Given the description of an element on the screen output the (x, y) to click on. 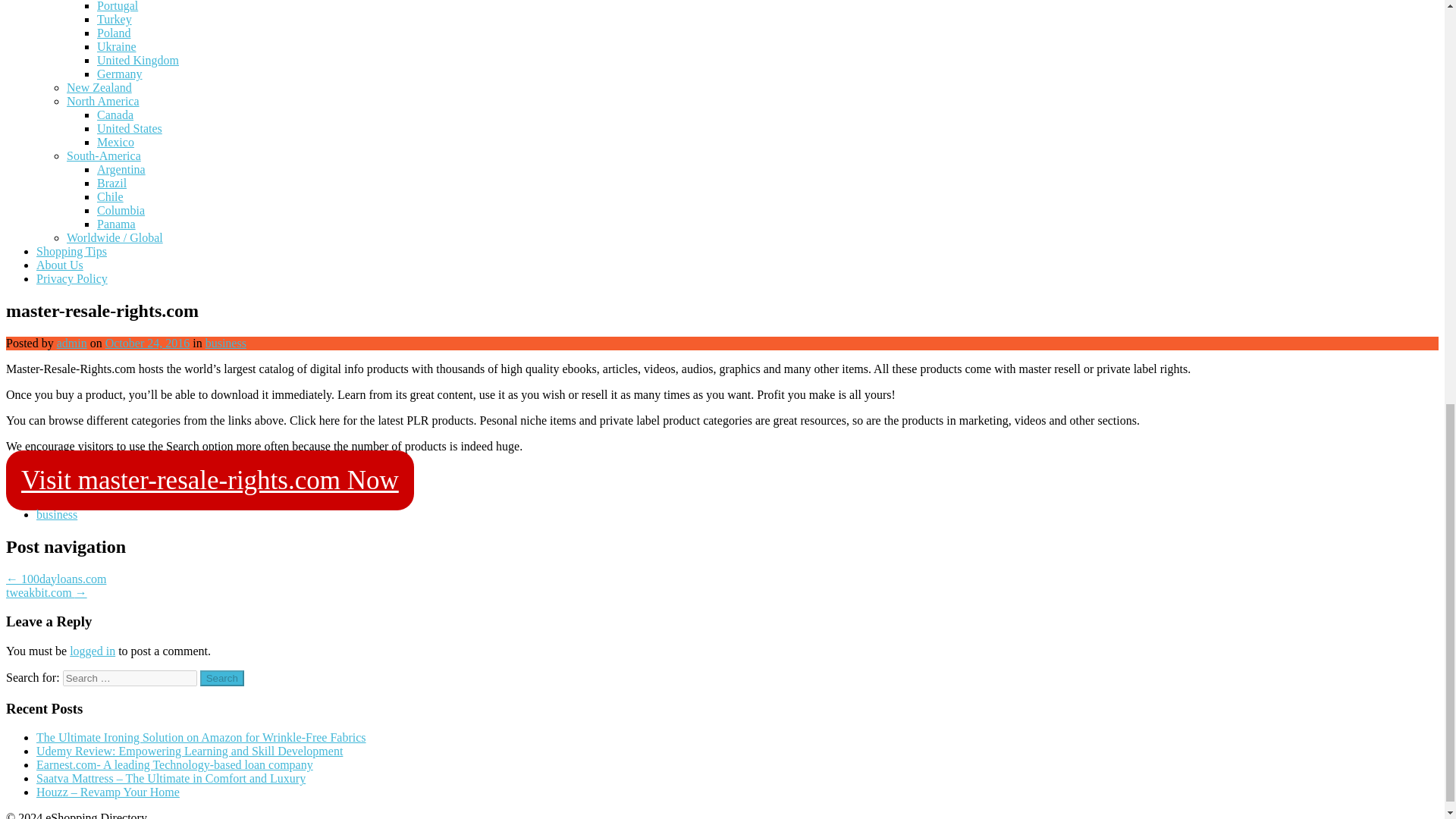
Search (222, 678)
Search (222, 678)
